Given the description of an element on the screen output the (x, y) to click on. 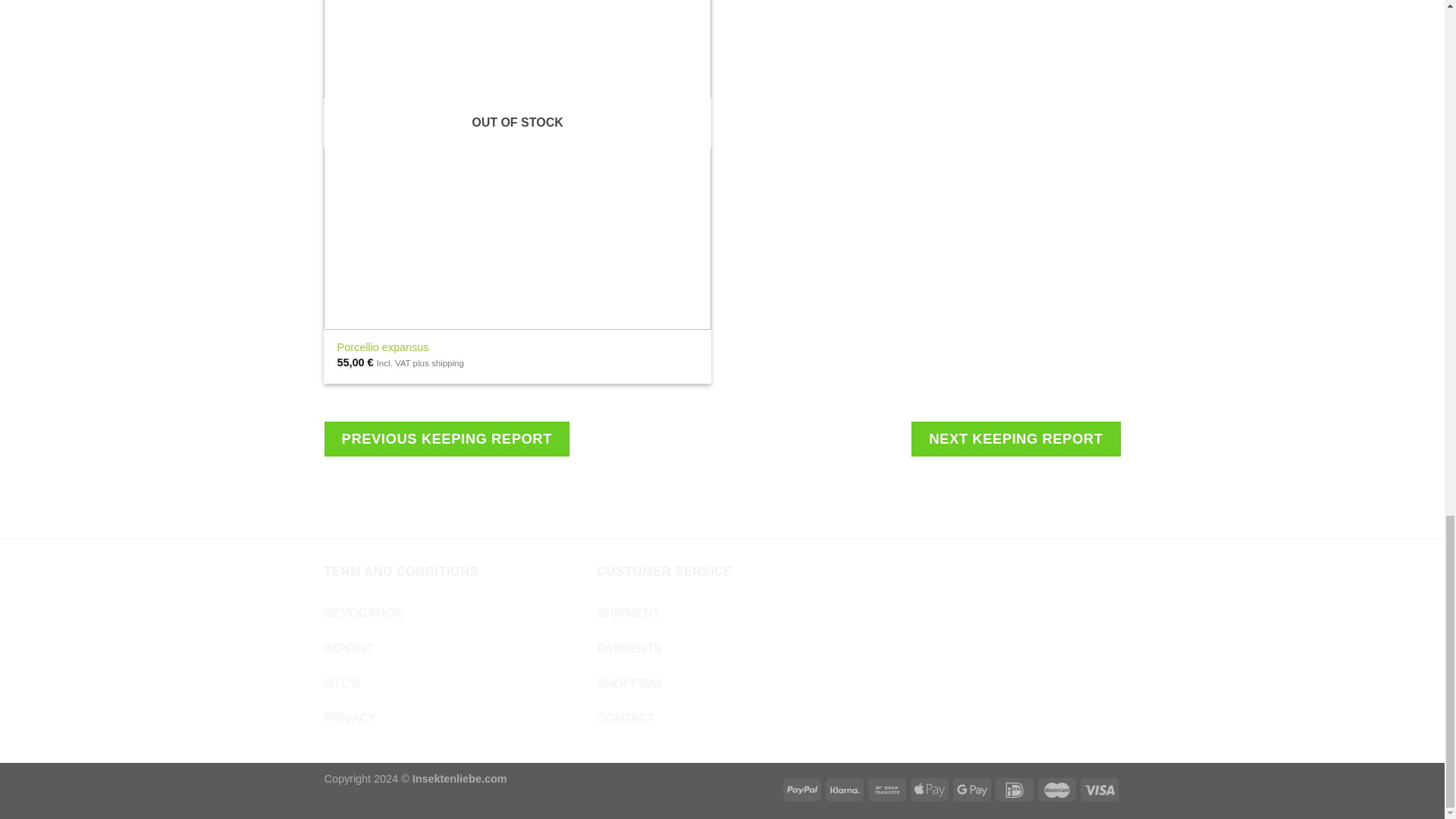
SHOPPING (628, 683)
NEXT KEEPING REPORT (1015, 438)
SHIPMENT (627, 612)
Porcellio expansus (383, 347)
IMPRINT (349, 648)
PAYMENTS (629, 648)
CONTACT (624, 717)
PREVIOUS KEEPING REPORT (447, 438)
REVOCATION (364, 612)
PRIVACY (350, 717)
